Given the description of an element on the screen output the (x, y) to click on. 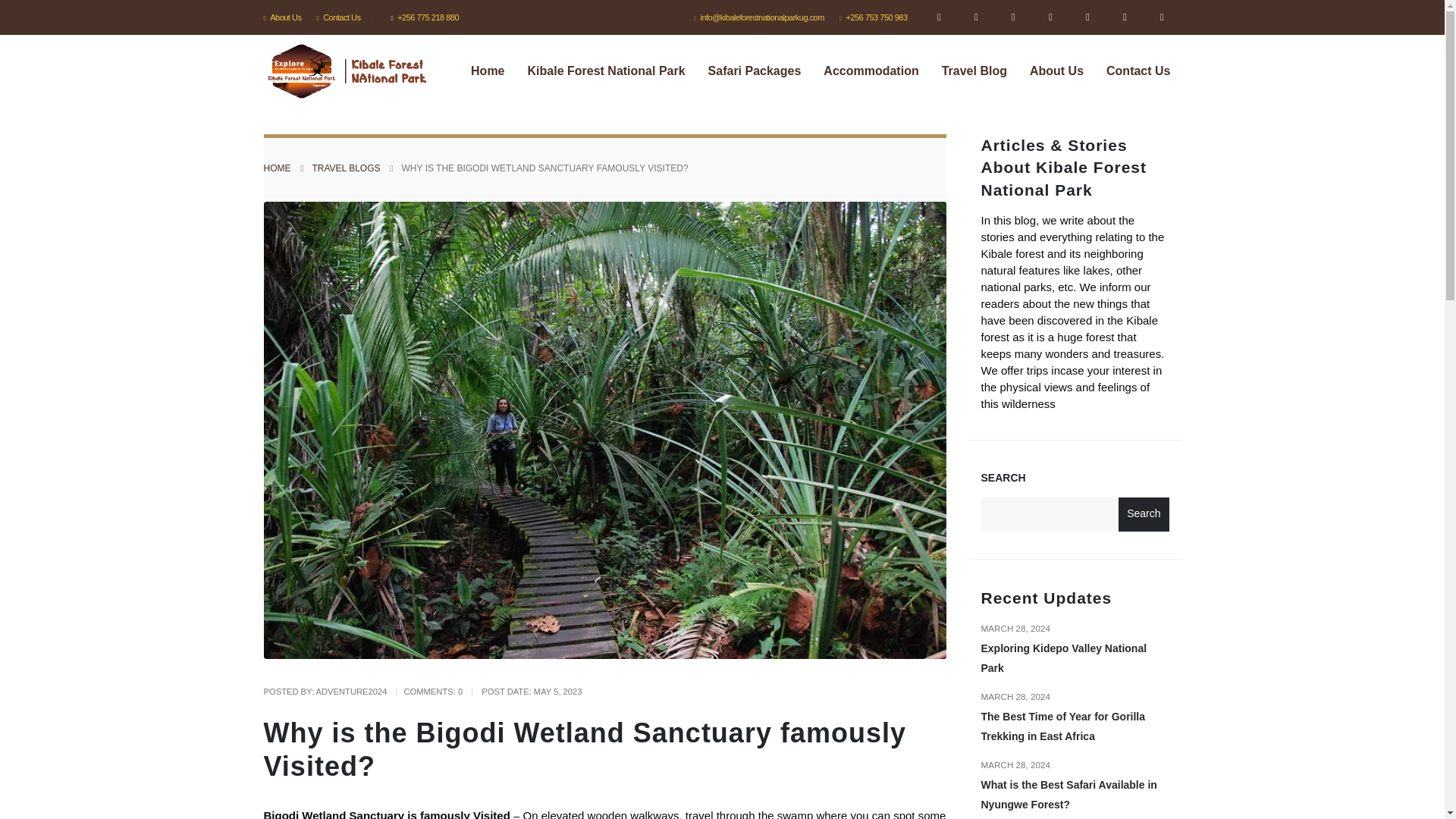
Facebook (1160, 17)
Tumblr (1124, 17)
Contact Us (338, 17)
LinkedIn (1086, 17)
Home (487, 70)
About Us (285, 17)
Youtube (1050, 17)
Instagram (938, 17)
Twitter (976, 17)
Pinterest (1012, 17)
Kibale Forest National Park (605, 70)
